Given the description of an element on the screen output the (x, y) to click on. 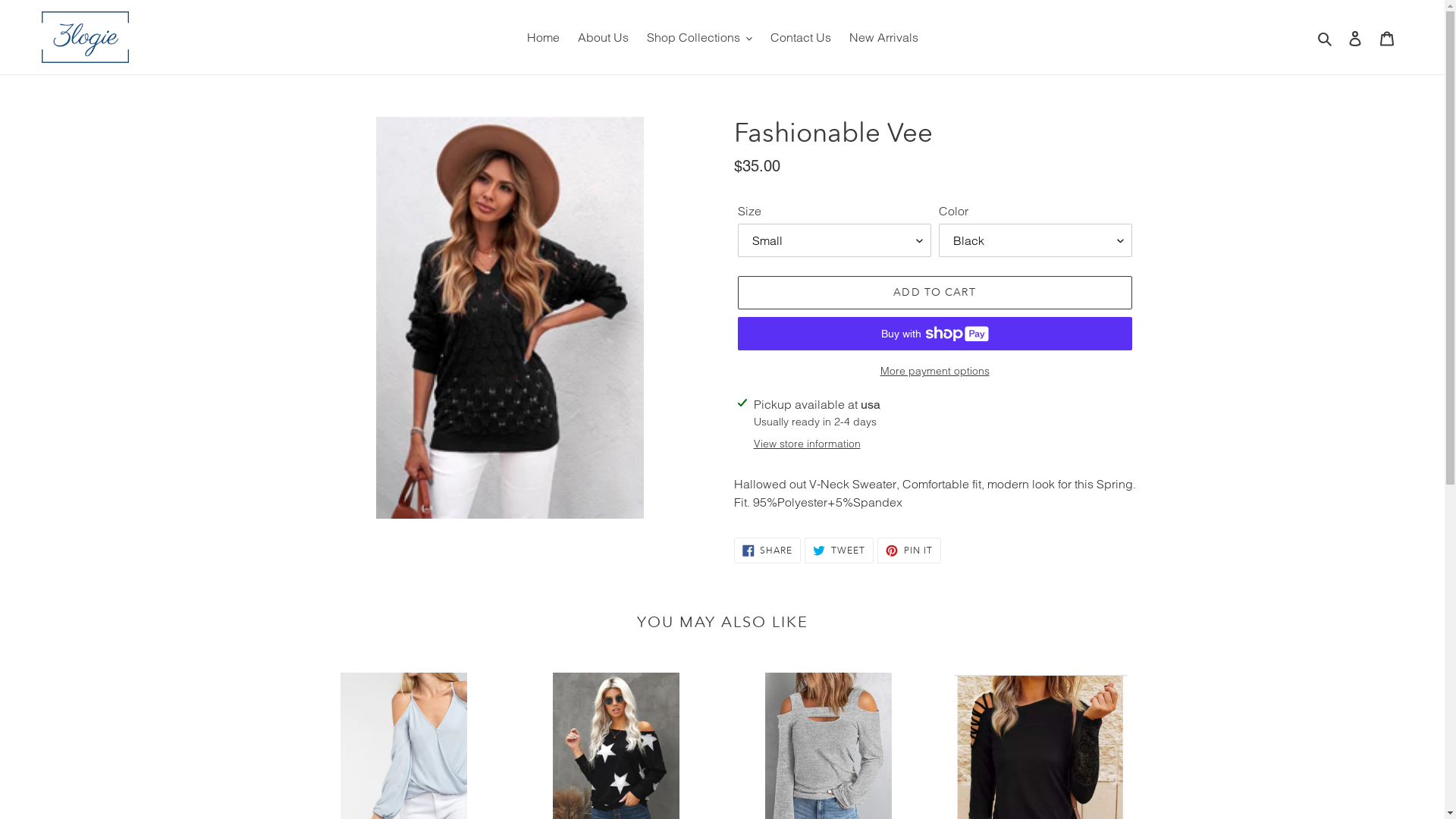
ADD TO CART Element type: text (934, 292)
TWEET
TWEET ON TWITTER Element type: text (838, 550)
Contact Us Element type: text (800, 36)
SHARE
SHARE ON FACEBOOK Element type: text (767, 550)
Log in Element type: text (1355, 36)
Home Element type: text (542, 36)
View store information Element type: text (806, 443)
More payment options Element type: text (934, 370)
New Arrivals Element type: text (883, 36)
About Us Element type: text (603, 36)
PIN IT
PIN ON PINTEREST Element type: text (909, 550)
Search Element type: text (1325, 37)
Cart Element type: text (1386, 36)
Shop Collections Element type: text (698, 36)
